Given the description of an element on the screen output the (x, y) to click on. 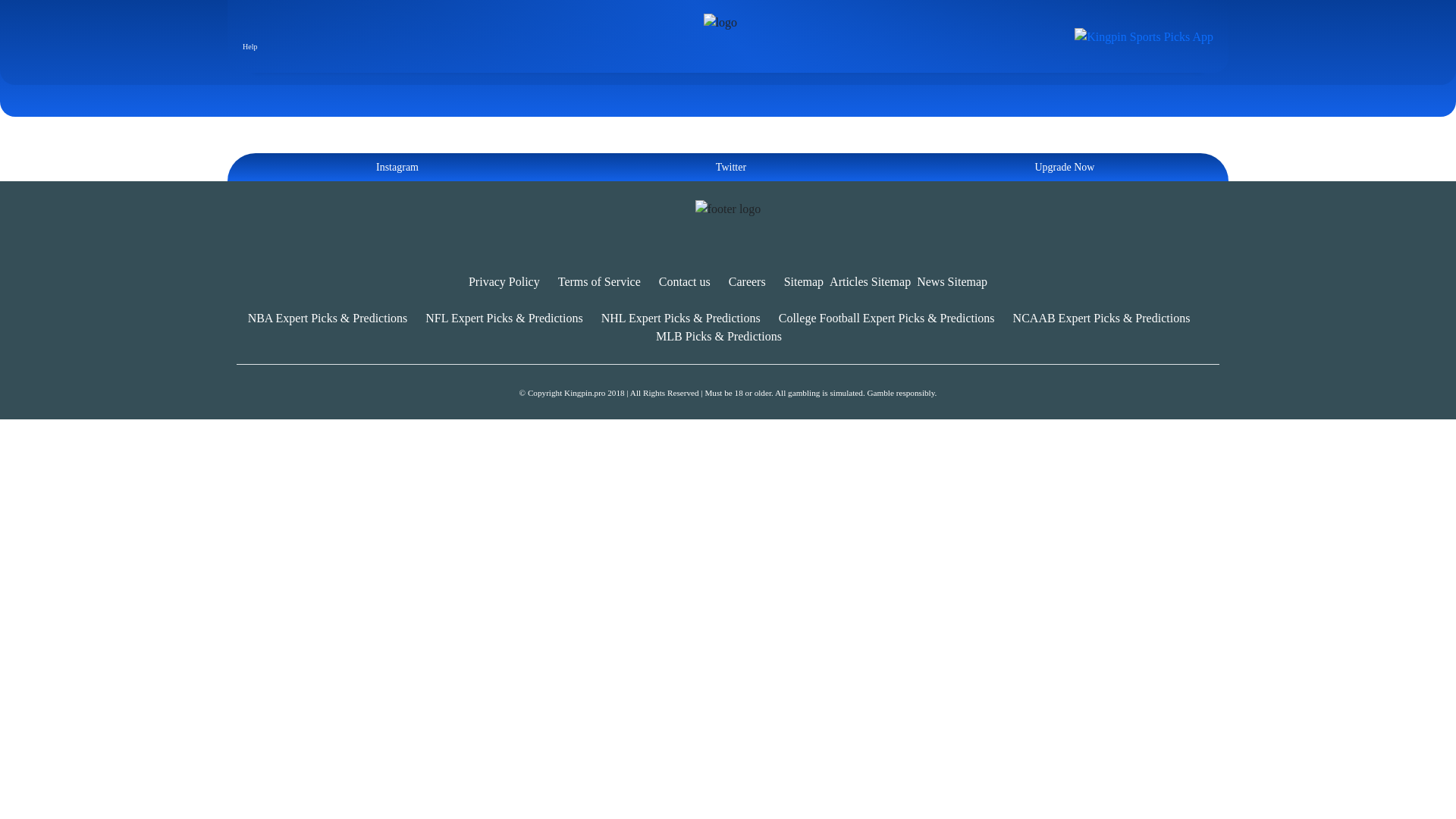
Twitter (727, 166)
Careers (747, 281)
Kingpin Sports Picks App (1143, 34)
Terms of Service (598, 281)
News Sitemap (952, 281)
Articles Sitemap (870, 281)
Instagram (393, 166)
Contact us (684, 281)
Upgrade Now (1062, 166)
Privacy Policy (504, 281)
